Given the description of an element on the screen output the (x, y) to click on. 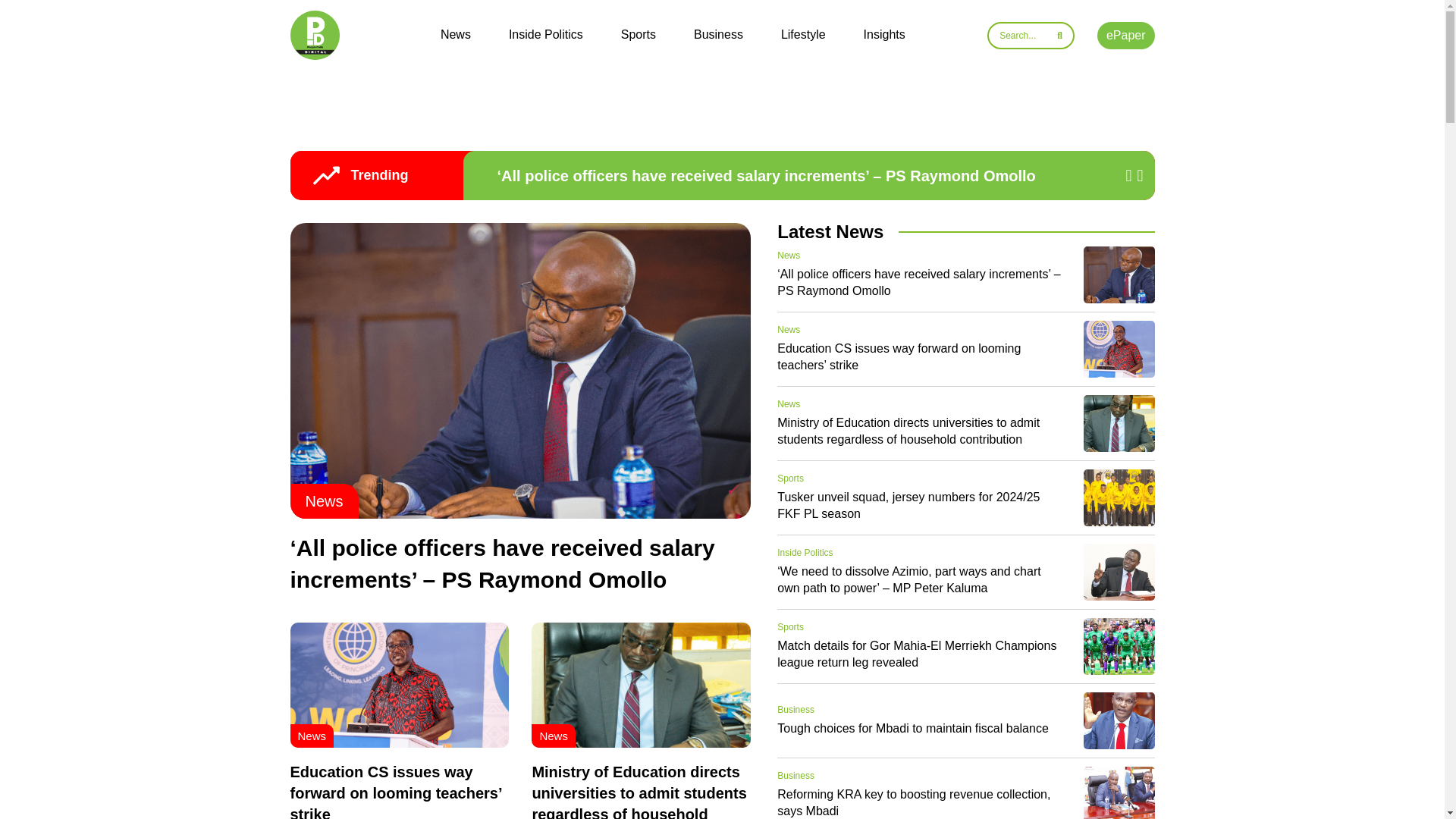
Inside Politics (545, 34)
News (788, 255)
News (311, 735)
Sports (638, 34)
ePaper (1125, 34)
Insights (884, 34)
News (455, 34)
Search... (1030, 34)
News (552, 735)
